Given the description of an element on the screen output the (x, y) to click on. 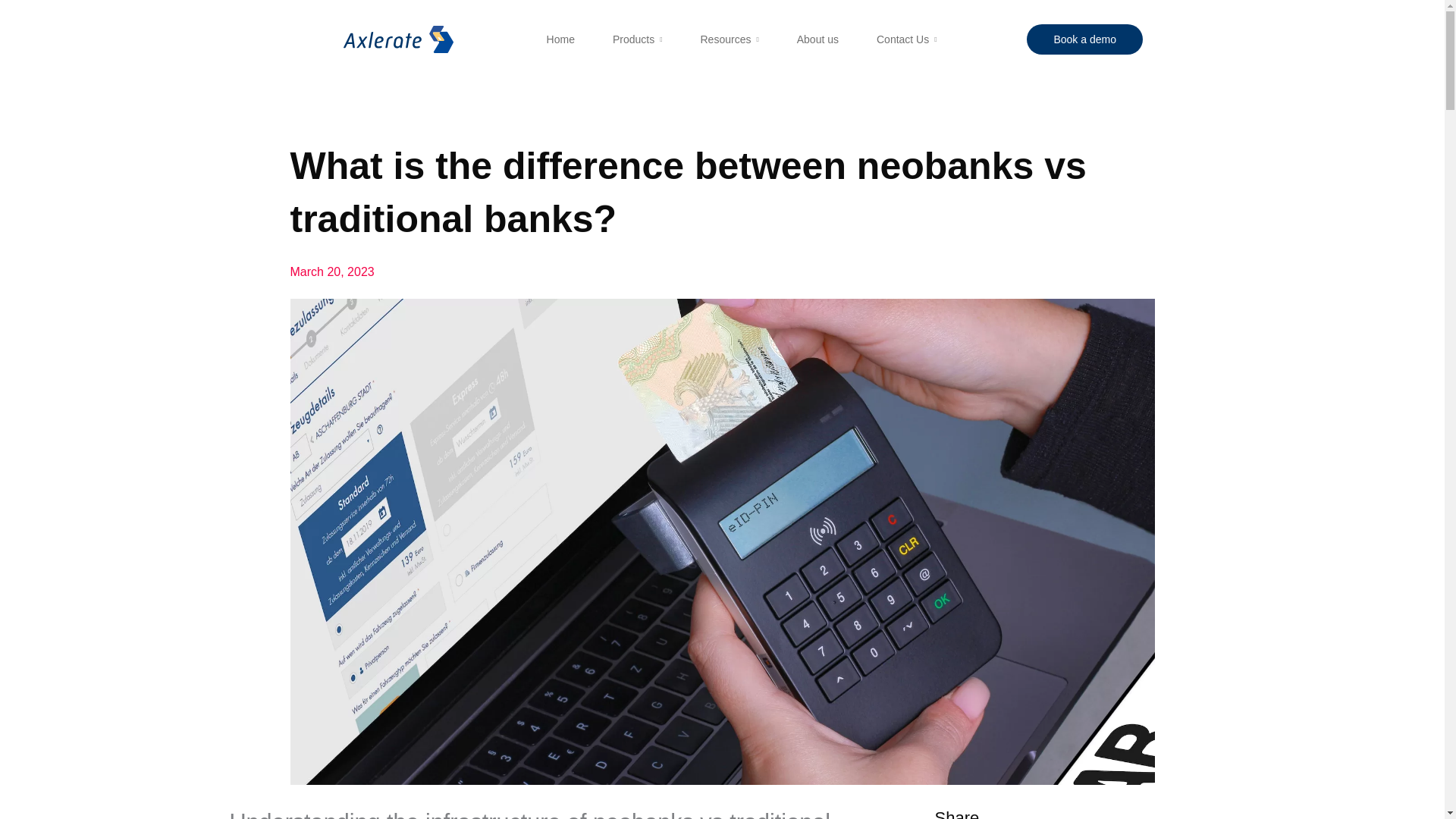
Products (637, 39)
Contact Us (906, 39)
Resources (729, 39)
About us (817, 39)
